Given the description of an element on the screen output the (x, y) to click on. 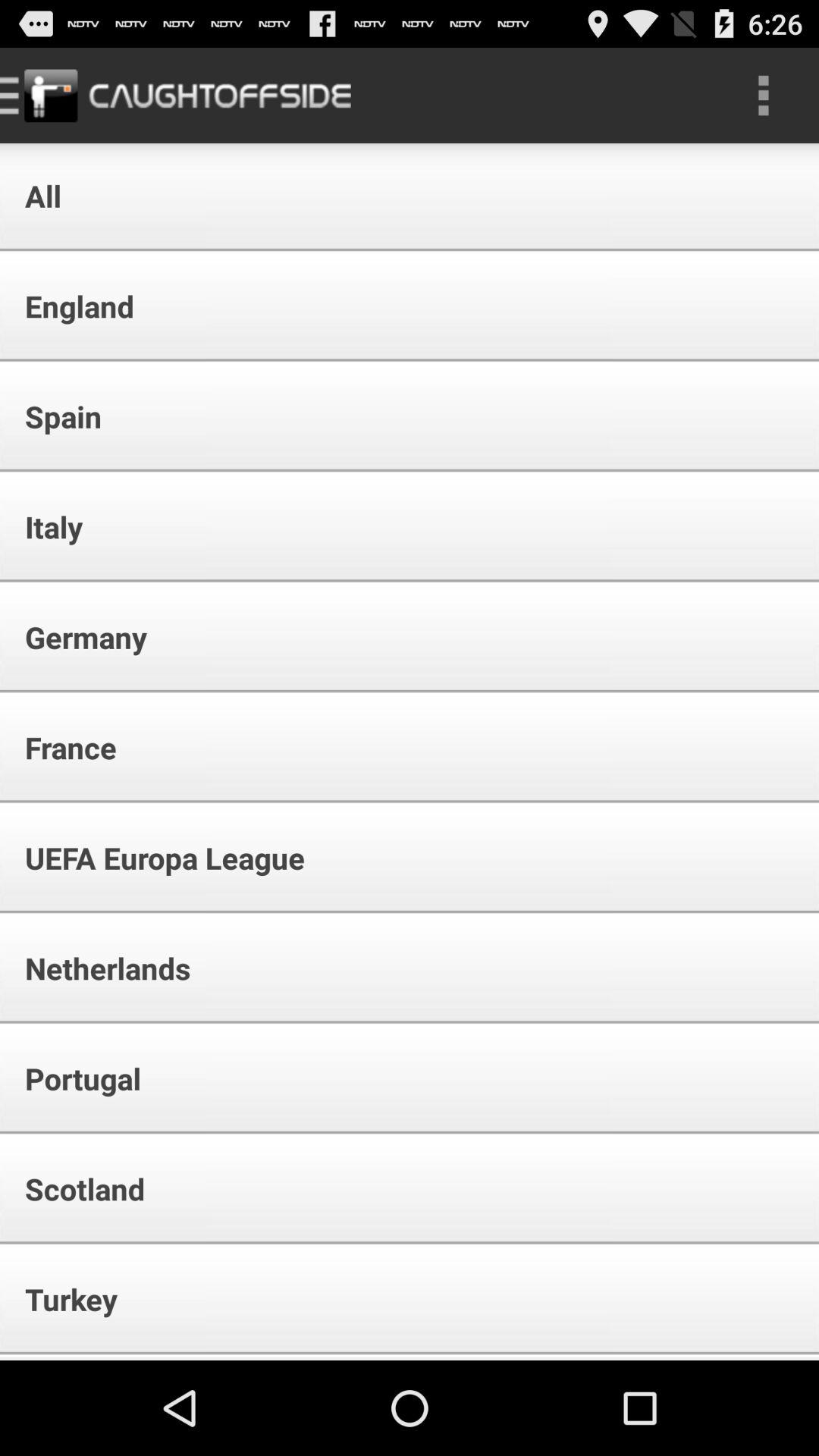
launch the uefa europa league icon (154, 857)
